Given the description of an element on the screen output the (x, y) to click on. 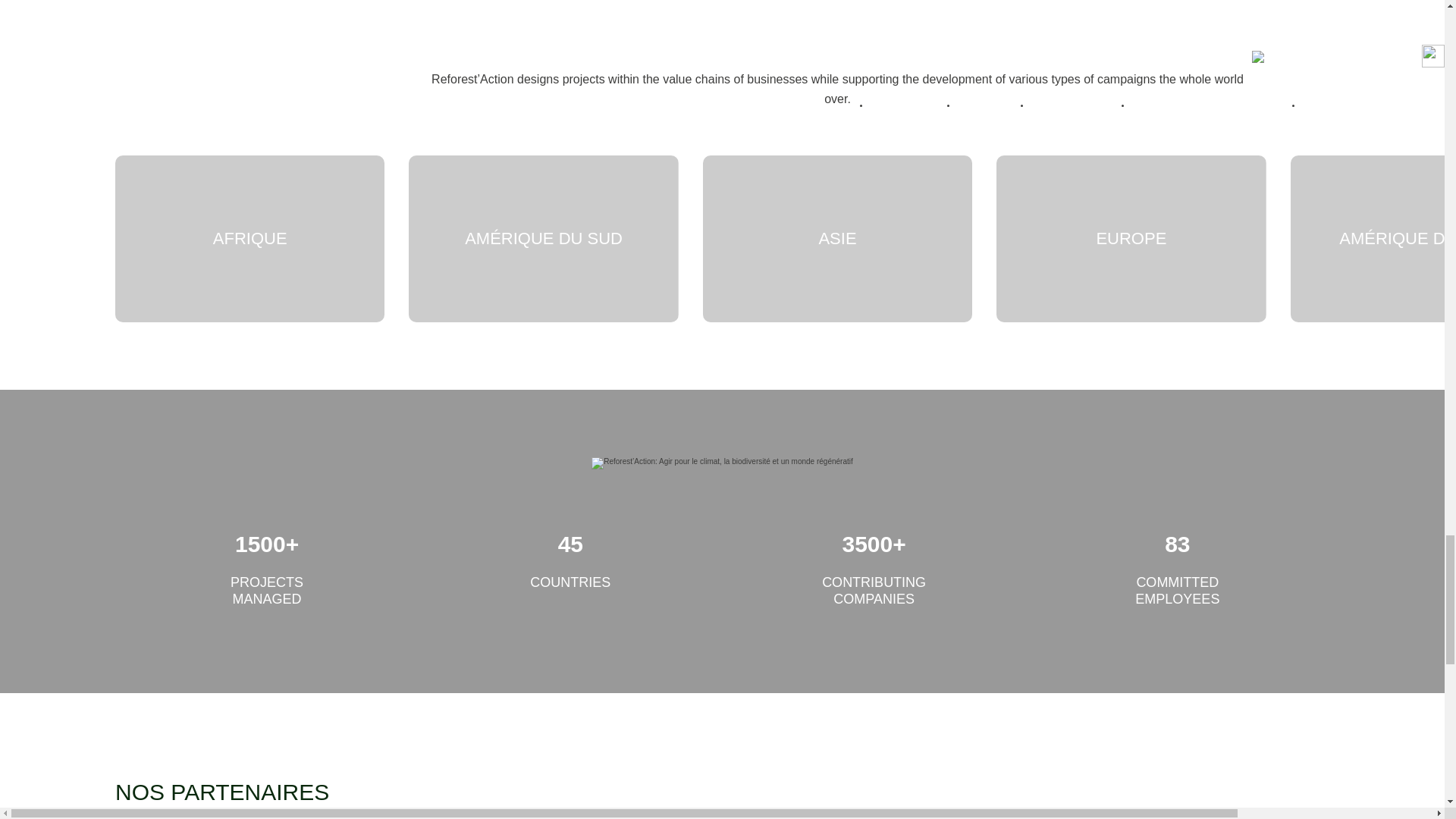
AFRIQUE (249, 238)
EUROPE (1130, 238)
ASIE (837, 238)
